Given the description of an element on the screen output the (x, y) to click on. 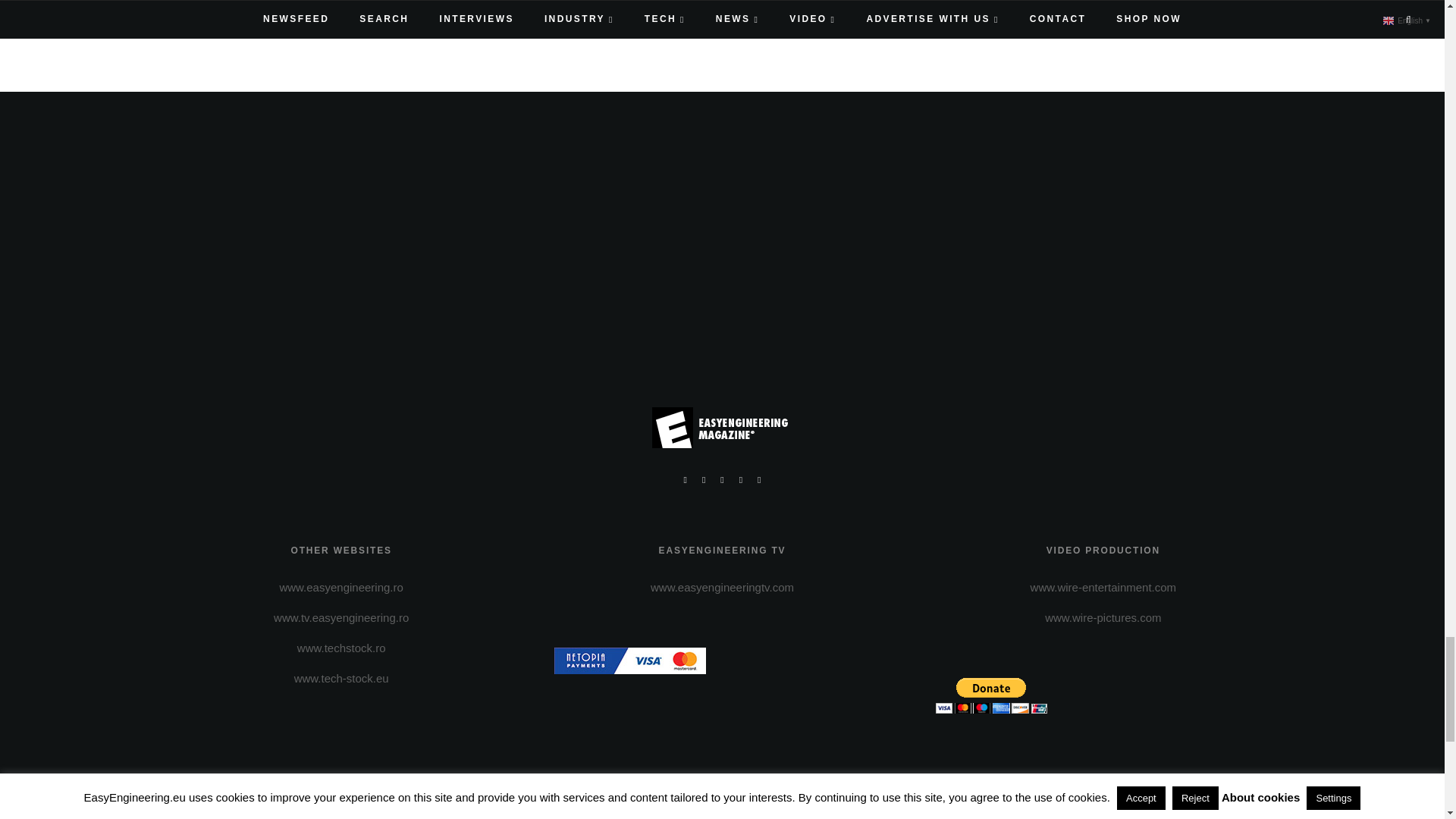
PayPal - The safer, easier way to pay online! (991, 695)
